Given the description of an element on the screen output the (x, y) to click on. 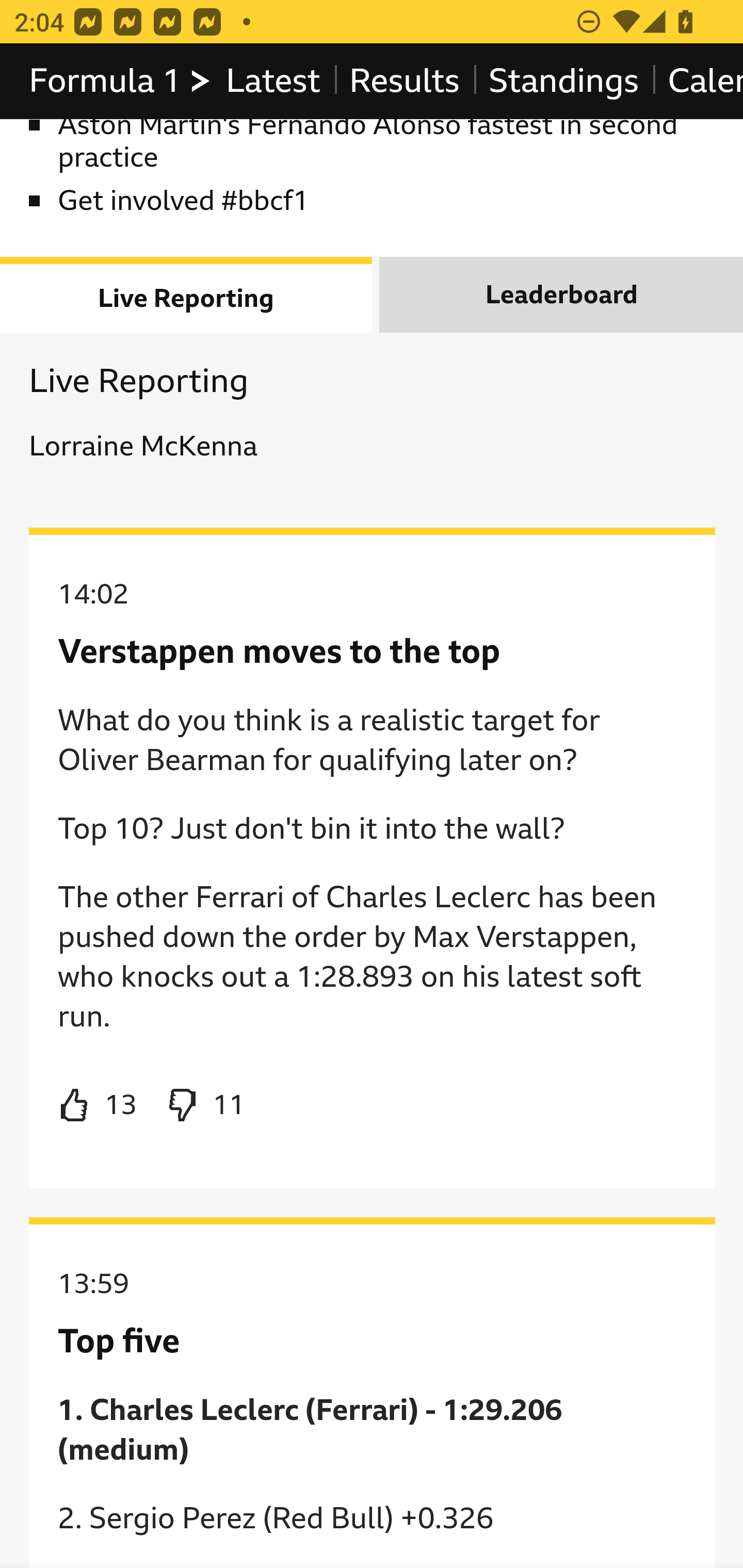
Live Reporting (186, 295)
Leaderboard (560, 295)
Like (97, 1105)
Dislike (204, 1105)
